Given the description of an element on the screen output the (x, y) to click on. 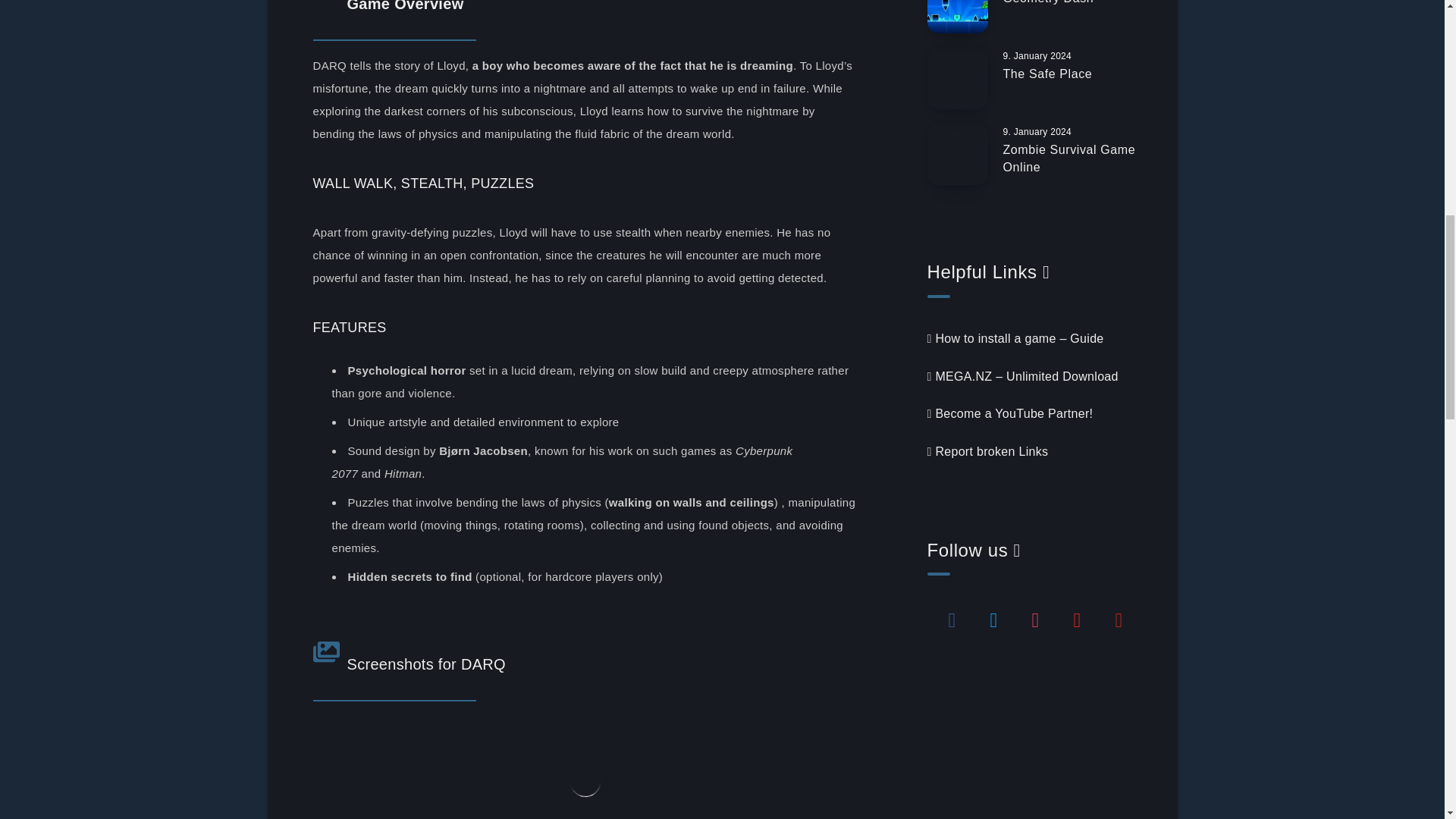
Geometry Dash (1048, 4)
The Safe Place (1047, 75)
Zombie Survival Game Online (1069, 160)
